Given the description of an element on the screen output the (x, y) to click on. 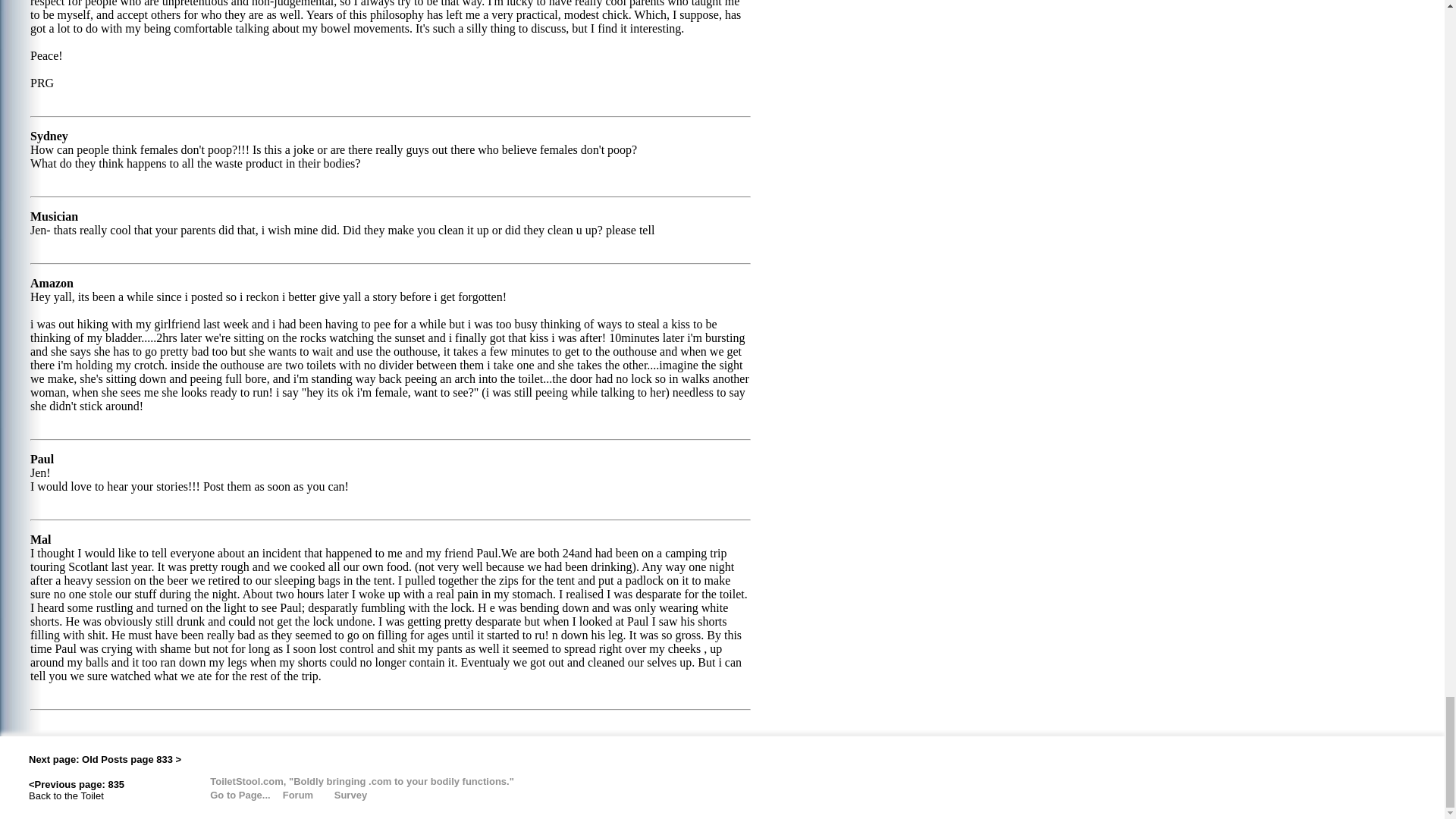
Survey (348, 793)
       Go to Page... (229, 793)
Forum       (306, 793)
Take the Sitting on the Toilet Survey. (348, 793)
Back to the Toilet (66, 794)
Select a page by number (229, 793)
